Given the description of an element on the screen output the (x, y) to click on. 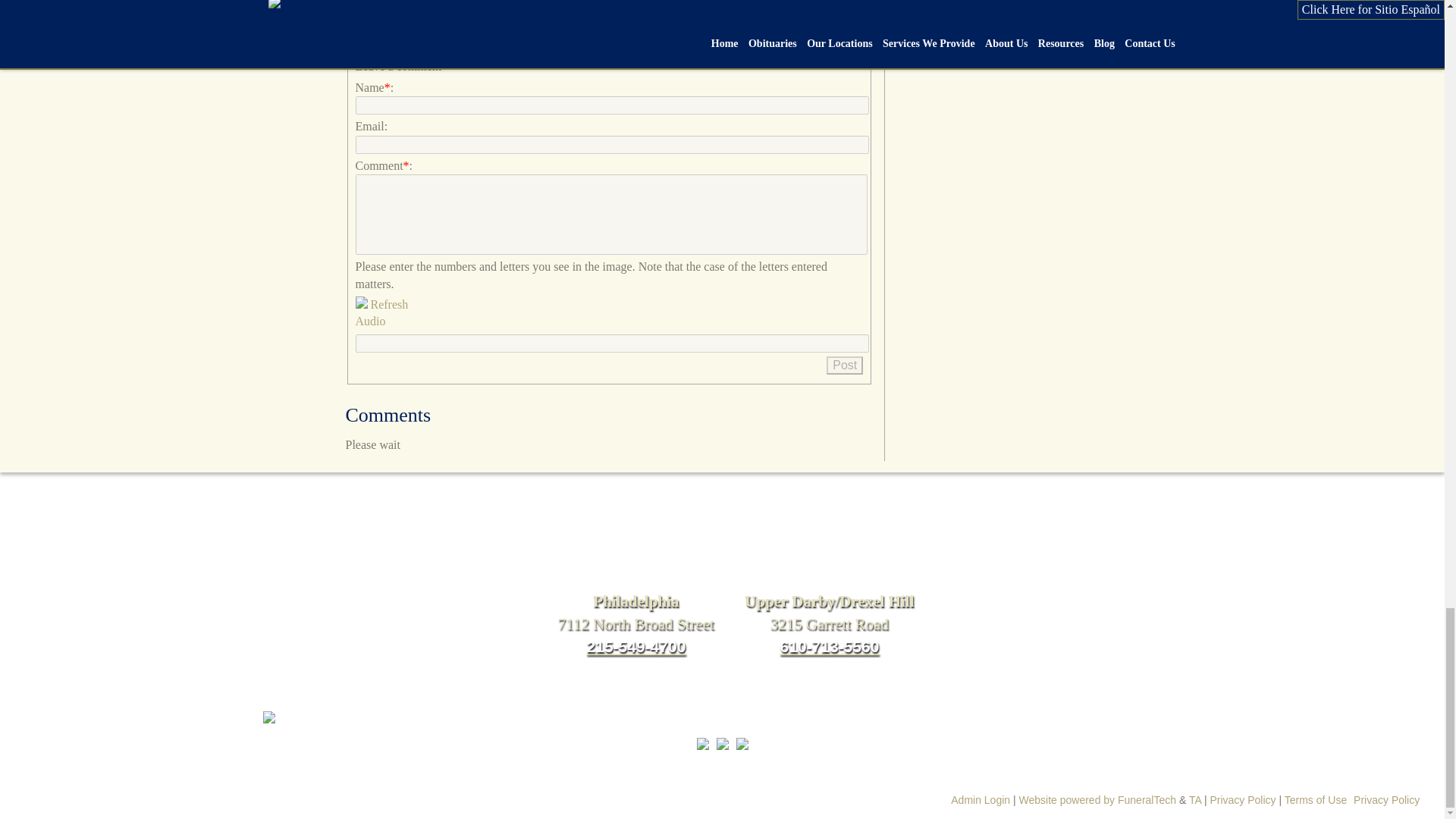
Facebook (357, 41)
Twitter (384, 41)
Privacy Policy (1386, 799)
Post (845, 365)
